Given the description of an element on the screen output the (x, y) to click on. 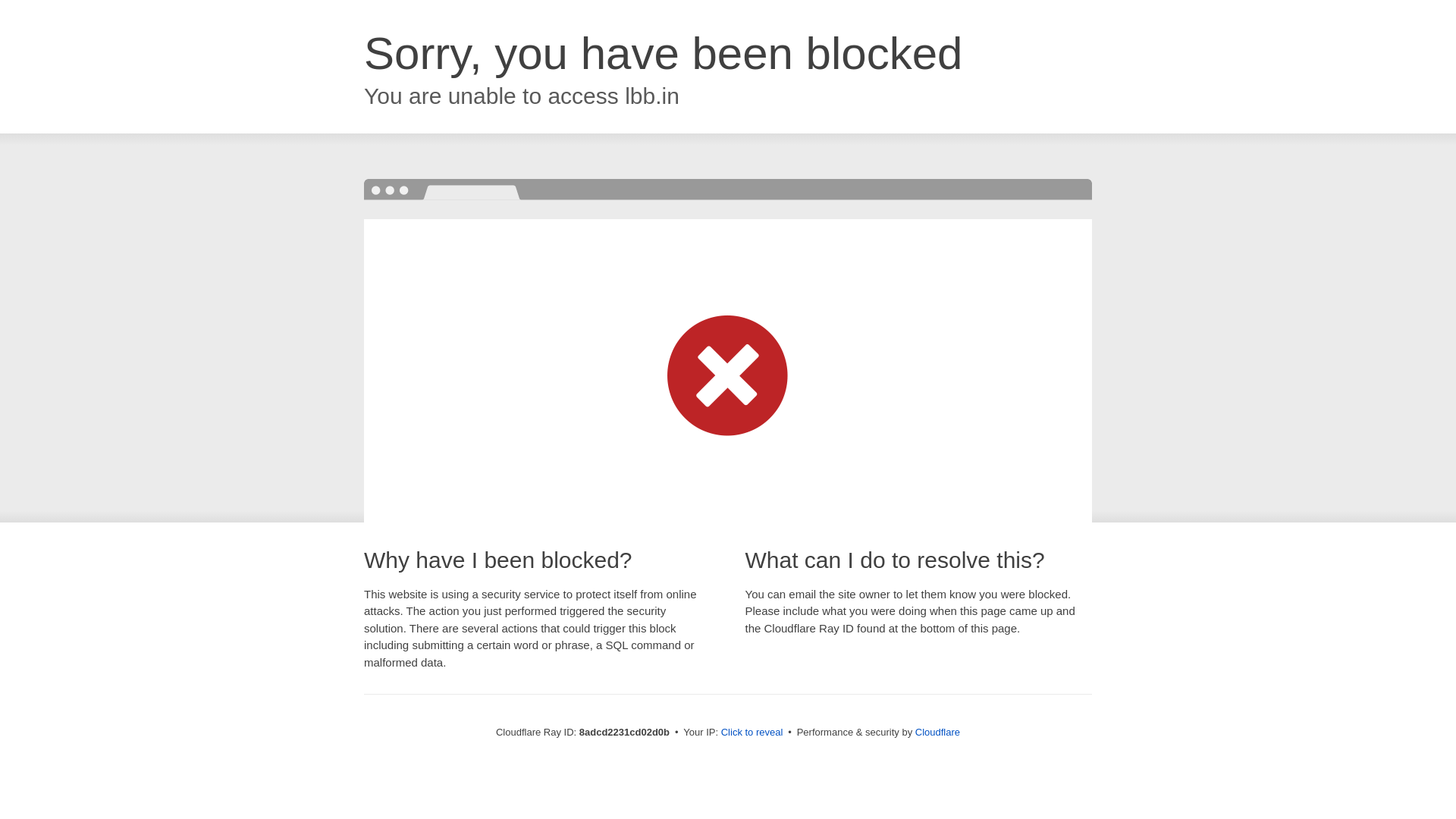
Click to reveal (751, 732)
Cloudflare (937, 731)
